Given the description of an element on the screen output the (x, y) to click on. 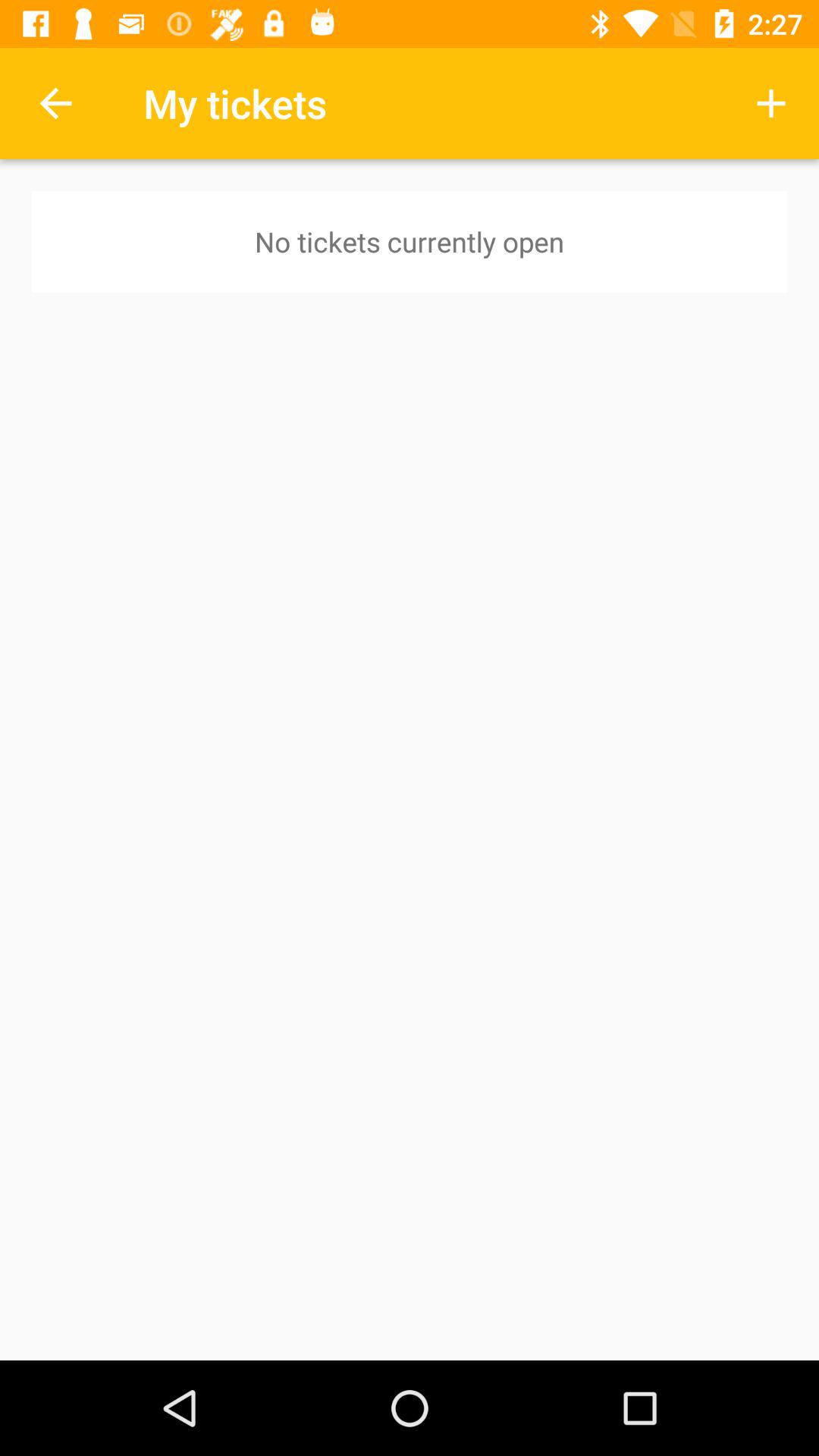
choose icon to the left of the my tickets icon (55, 103)
